Given the description of an element on the screen output the (x, y) to click on. 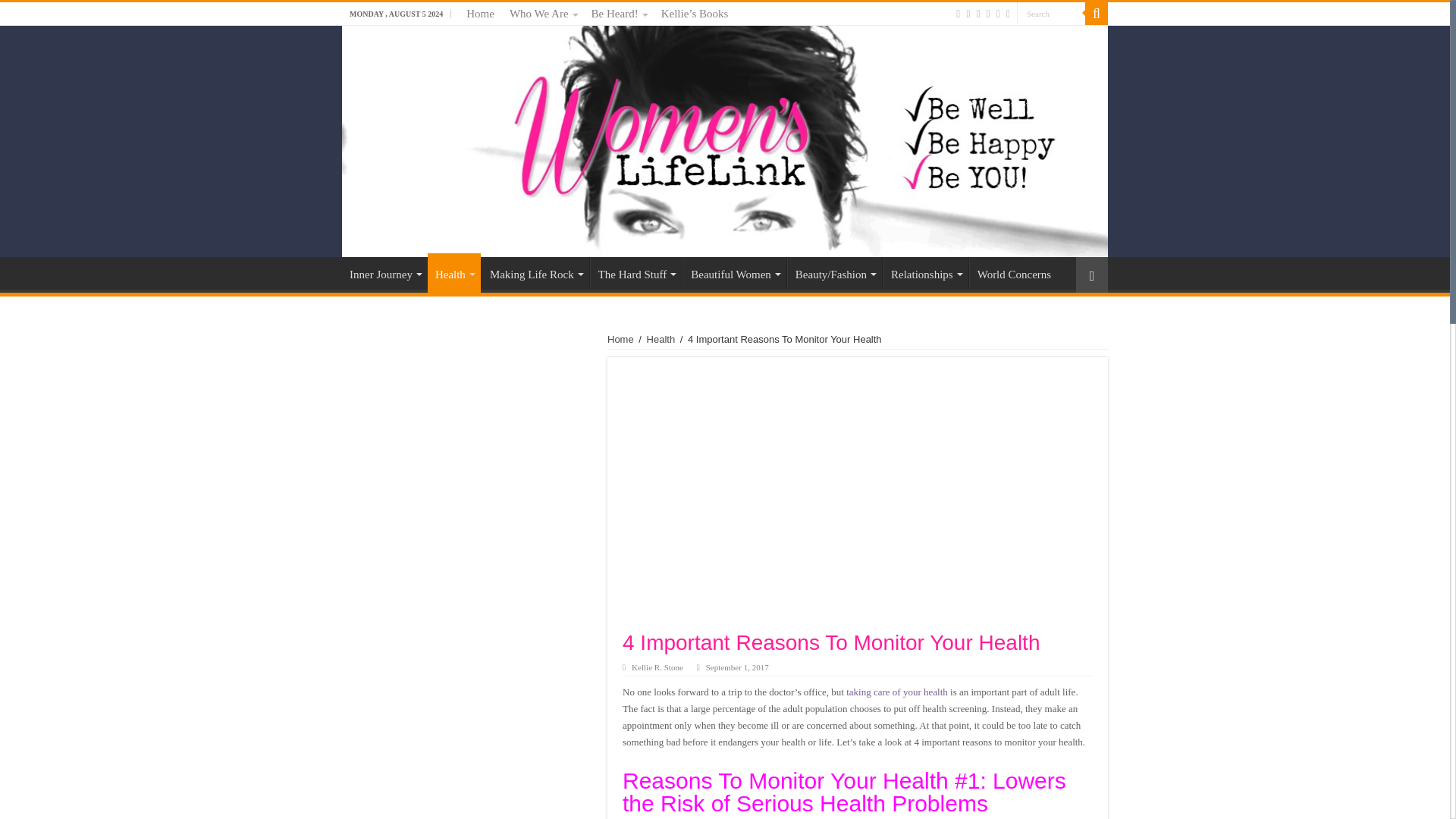
Search (1050, 13)
Be Heard! (618, 13)
Inner Journey (385, 273)
Search (1050, 13)
Home (480, 13)
Making Life Rock (535, 273)
Who We Are (542, 13)
Search (1050, 13)
Health (454, 272)
